Given the description of an element on the screen output the (x, y) to click on. 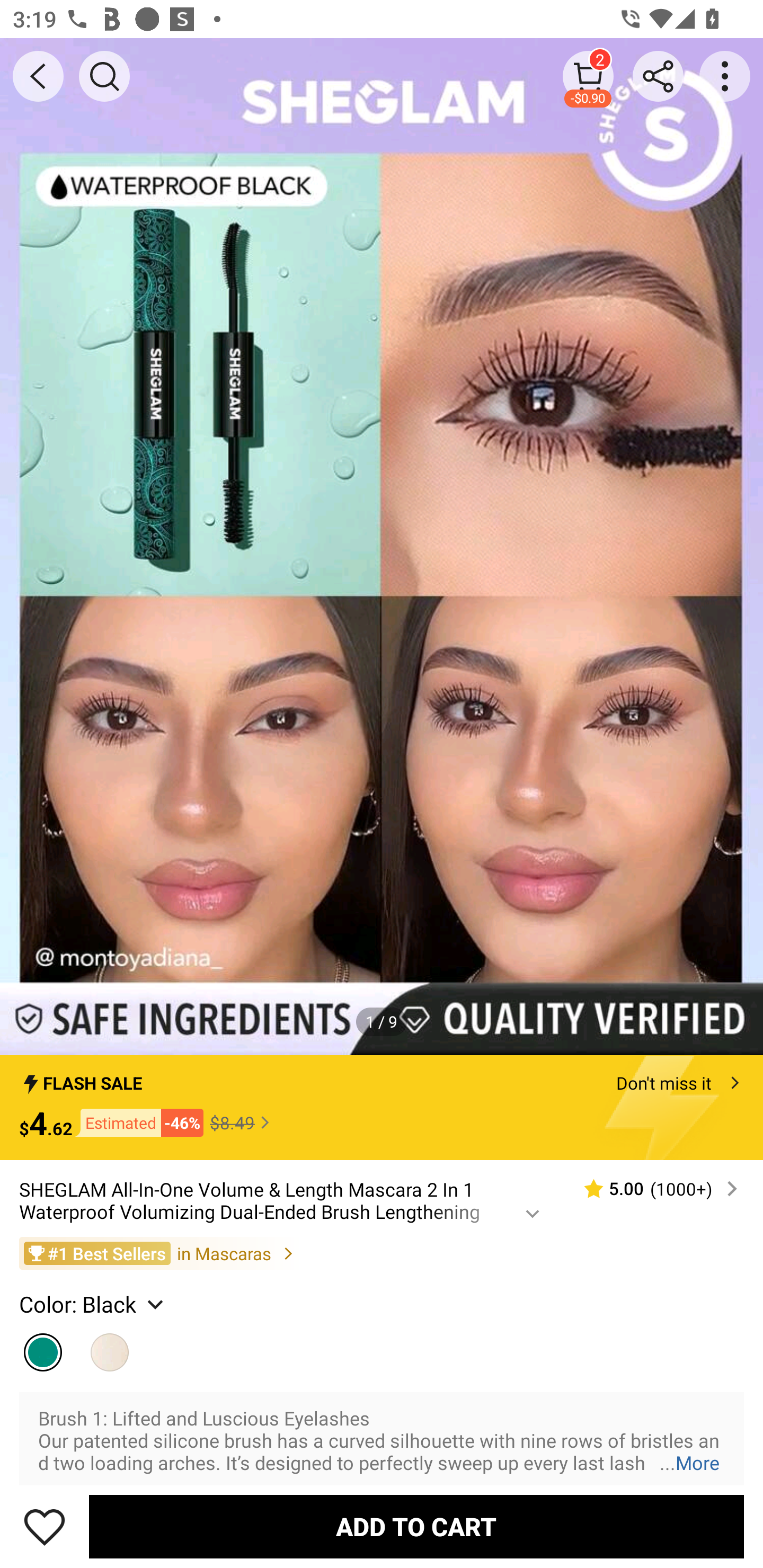
BACK (38, 75)
2 -$0.90 (588, 75)
1 / 9 (381, 1021)
FLASH SALE Don't miss it (381, 1077)
Estimated -46% (137, 1122)
$8.49 (241, 1121)
5.00 (1000‎+) (653, 1188)
#1 Best Sellers in Mascaras (381, 1253)
Color: Black (93, 1303)
Black (42, 1347)
Black (109, 1347)
ADD TO CART (416, 1526)
Save (44, 1526)
